Given the description of an element on the screen output the (x, y) to click on. 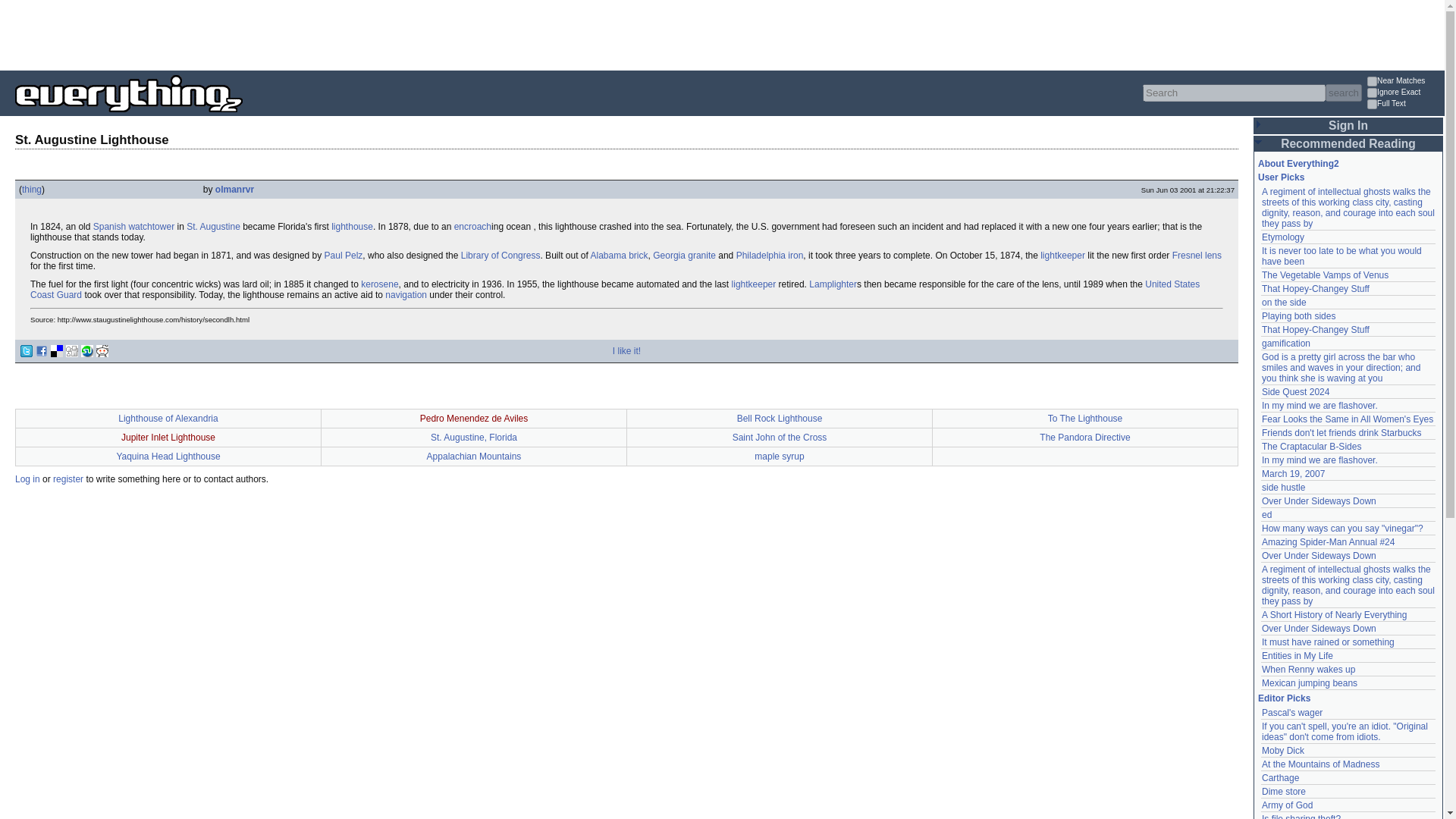
encroach (473, 226)
Search within Everything2 (1342, 92)
Search for text within writeups (1404, 104)
lightkeeper (1062, 255)
To The Lighthouse (1085, 418)
lightkeeper (754, 284)
thing (31, 189)
The Pandora Directive (1084, 437)
Lamplighter (833, 284)
lightkeeper (754, 284)
Georgia granite (684, 255)
Jupiter Inlet Lighthouse (167, 437)
St. Augustine (213, 226)
lighthouse (351, 226)
Saint John of the Cross (779, 437)
